Given the description of an element on the screen output the (x, y) to click on. 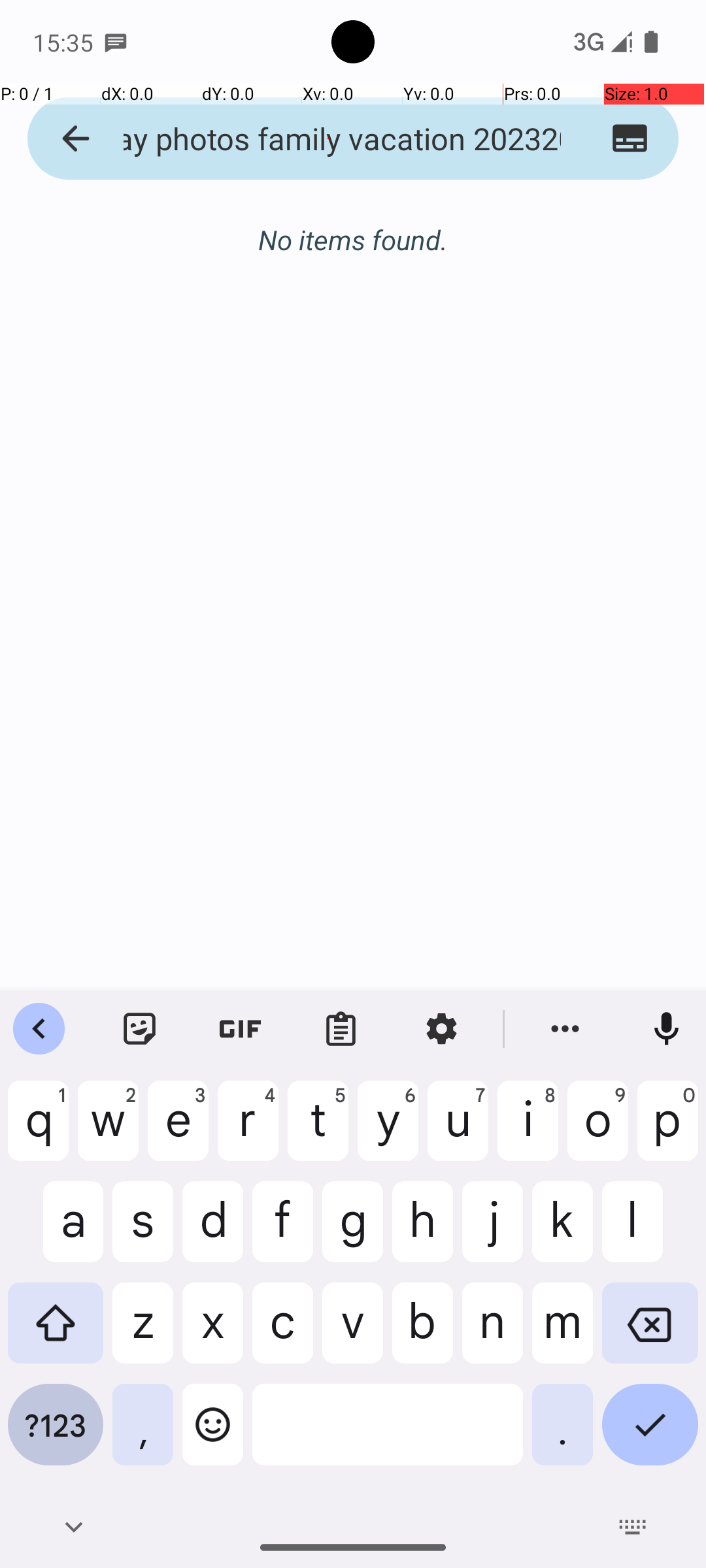
No items found. Element type: android.widget.TextView (353, 225)
holiday photos family vacation 20232023 Element type: android.widget.EditText (328, 138)
Toggle filename visibility Element type: android.widget.Button (629, 138)
